Given the description of an element on the screen output the (x, y) to click on. 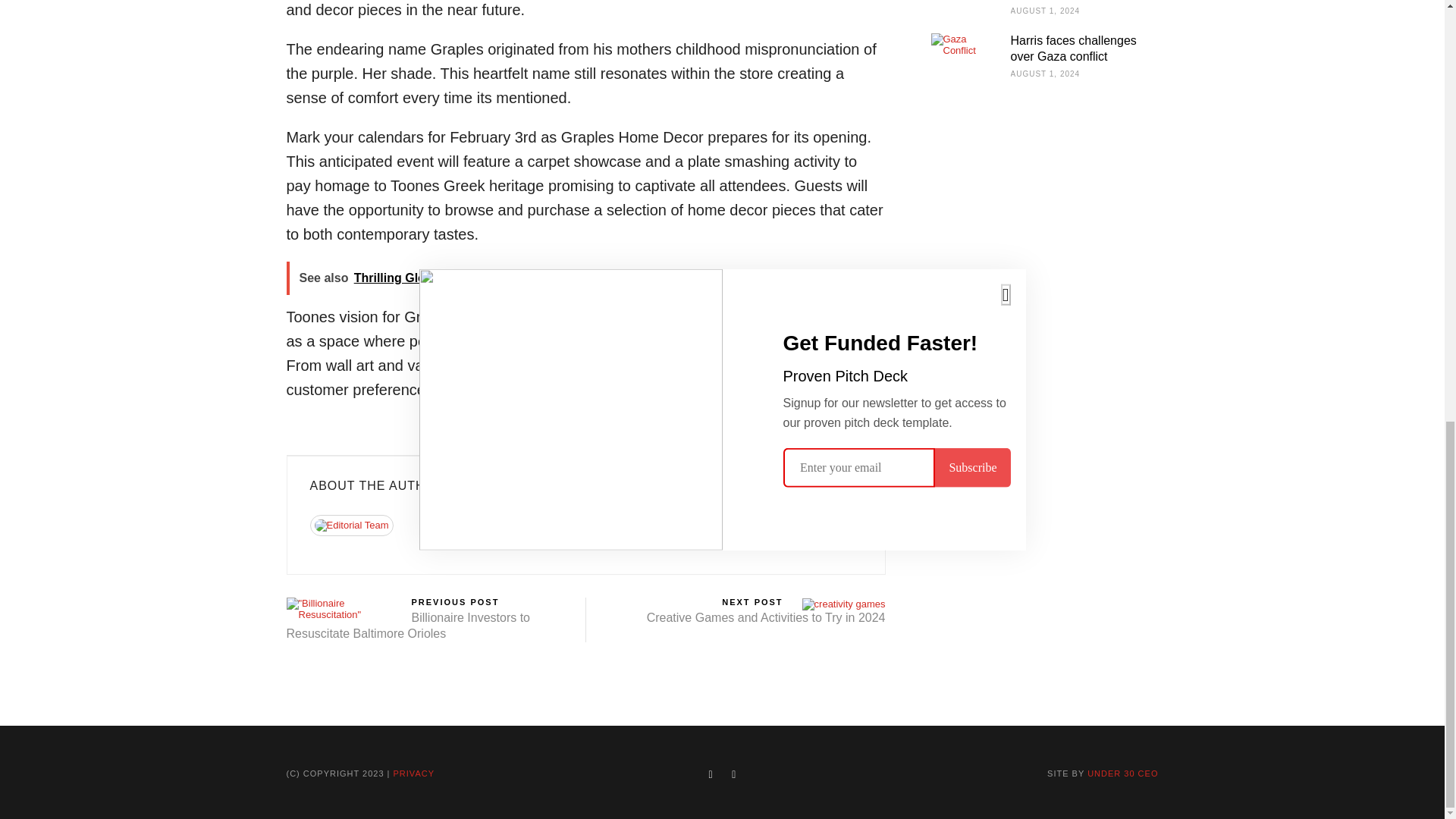
Visit Author Page (357, 530)
Posts by Editorial Team (468, 523)
